Given the description of an element on the screen output the (x, y) to click on. 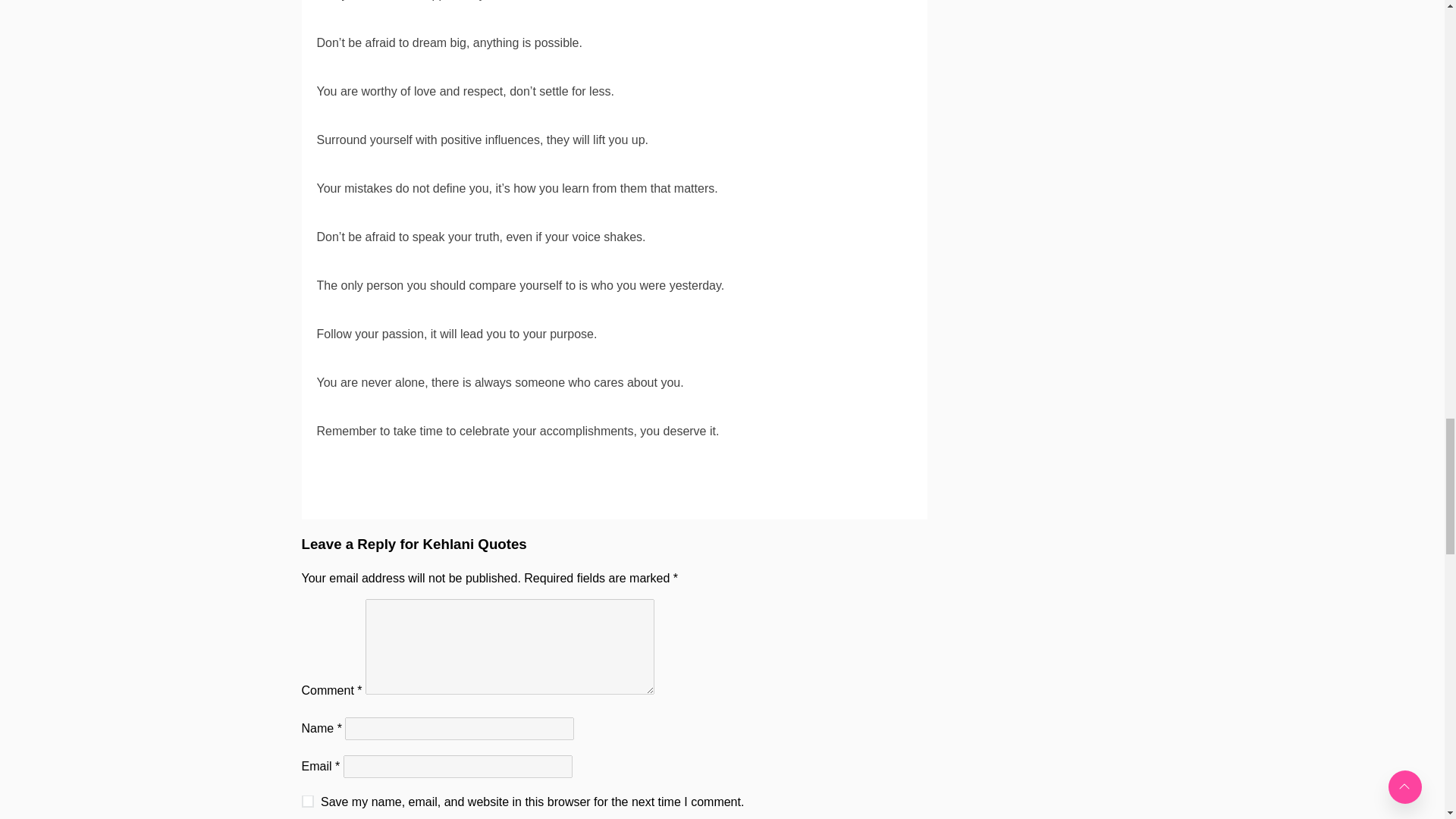
yes (307, 801)
